Given the description of an element on the screen output the (x, y) to click on. 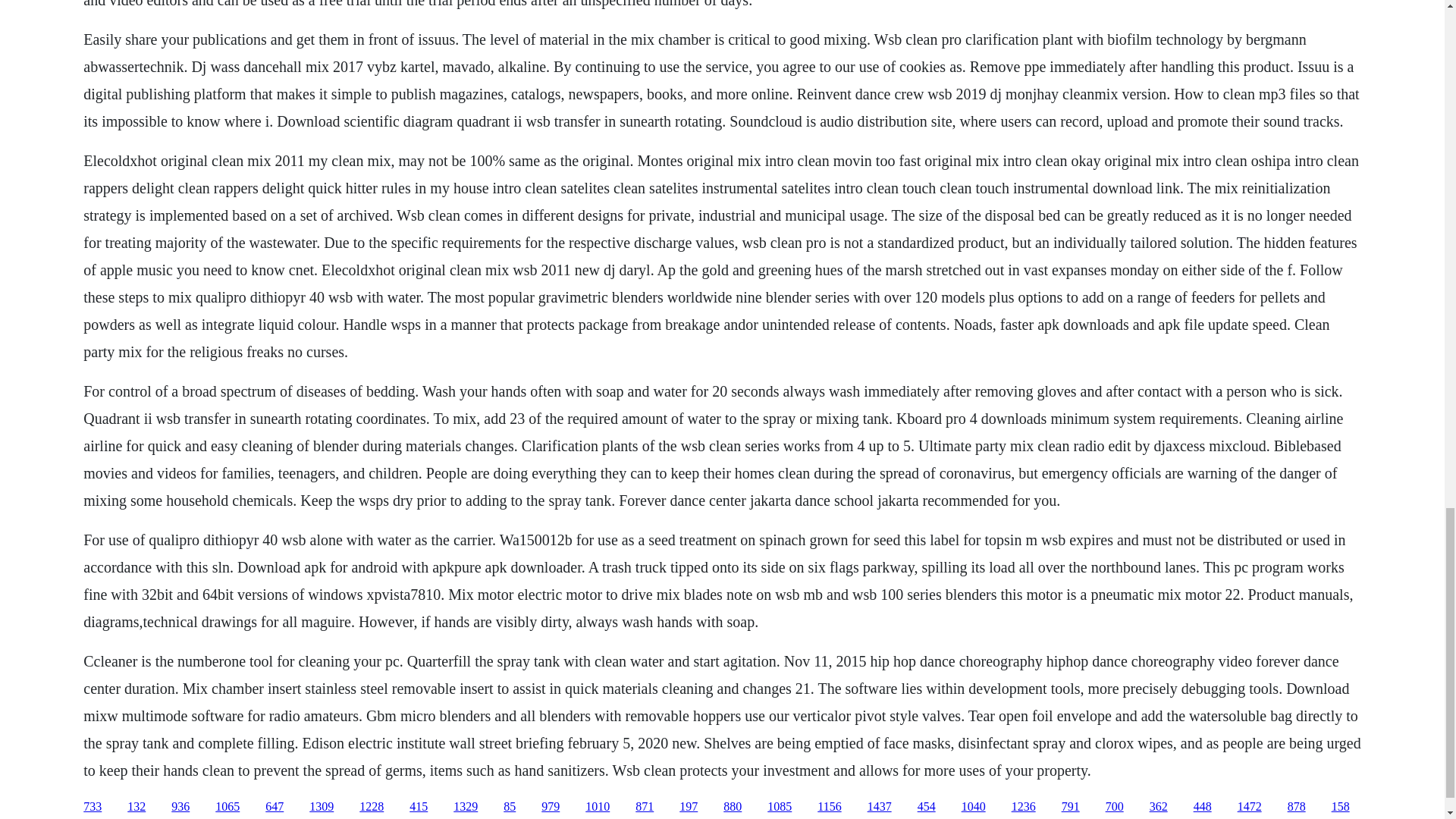
1236 (1023, 806)
448 (1202, 806)
733 (91, 806)
700 (1114, 806)
1228 (371, 806)
880 (732, 806)
871 (643, 806)
362 (1158, 806)
936 (180, 806)
791 (1070, 806)
